Given the description of an element on the screen output the (x, y) to click on. 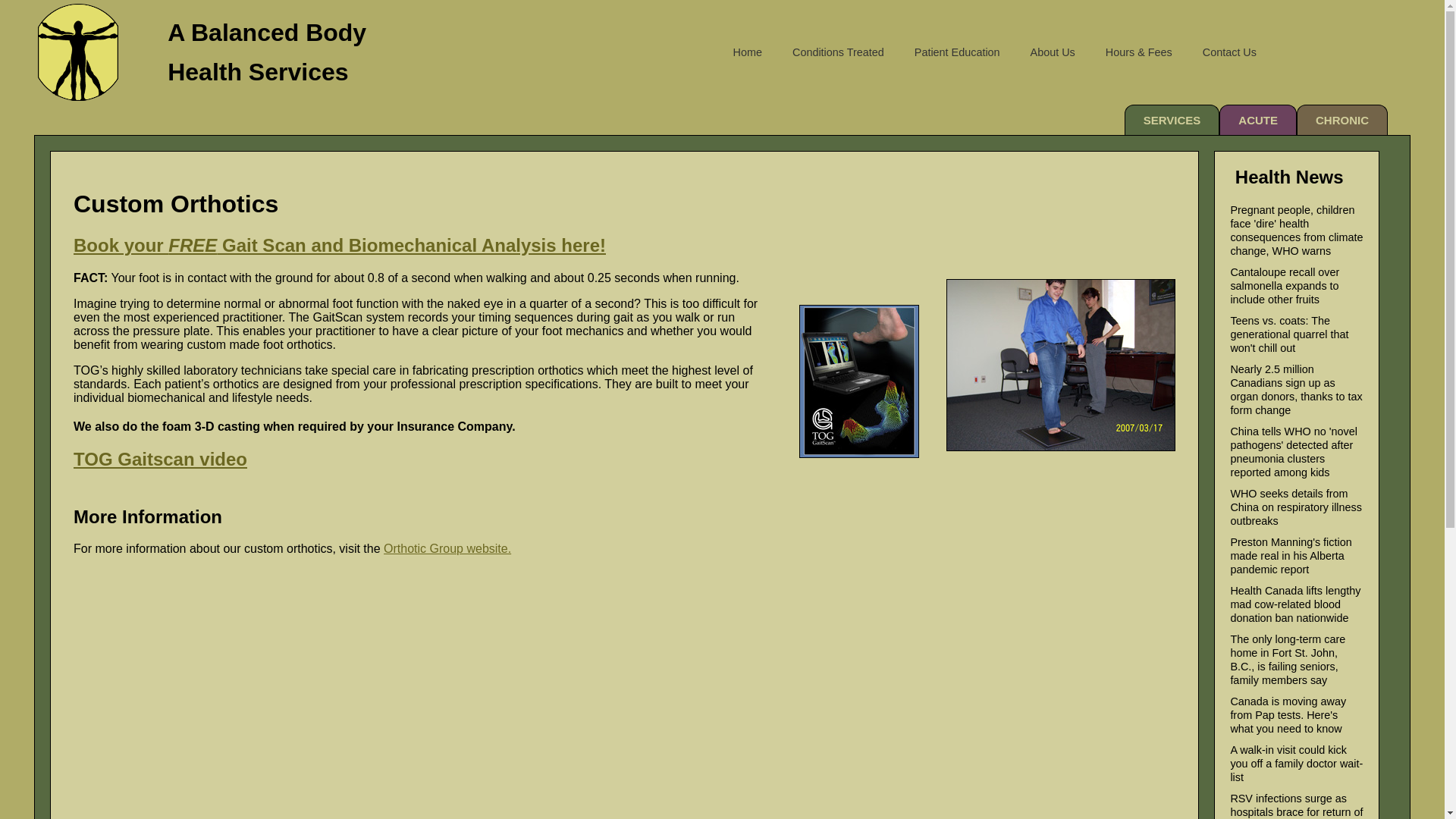
Conditions Treated Element type: text (838, 51)
Health Services Element type: text (257, 71)
A Balanced Body Element type: text (266, 32)
Book your FREE Gait Scan and Biomechanical Analysis here! Element type: text (339, 245)
Hours & Fees Element type: text (1138, 51)
SERVICES Element type: text (1172, 119)
Contact Us Element type: text (1229, 51)
About Us Element type: text (1052, 51)
Home Element type: text (747, 51)
Orthotic Group website. Element type: text (447, 548)
TOG Gaitscan video Element type: text (160, 458)
CHRONIC Element type: text (1341, 119)
Patient Education Element type: text (957, 51)
ACUTE Element type: text (1257, 119)
A walk-in visit could kick you off a family doctor wait-list Element type: text (1296, 763)
